Given the description of an element on the screen output the (x, y) to click on. 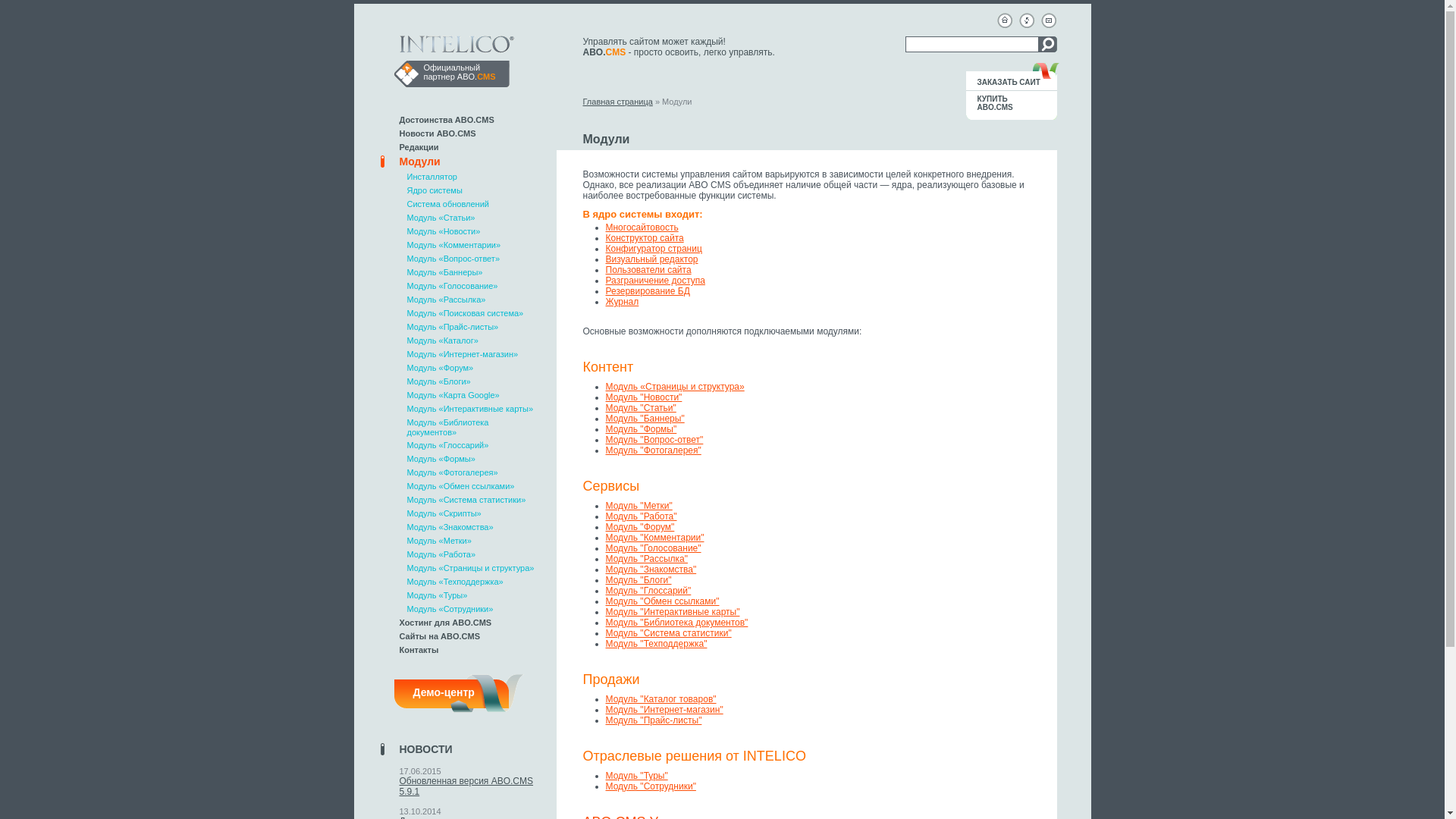
ABO.CMS Element type: text (476, 76)
